Given the description of an element on the screen output the (x, y) to click on. 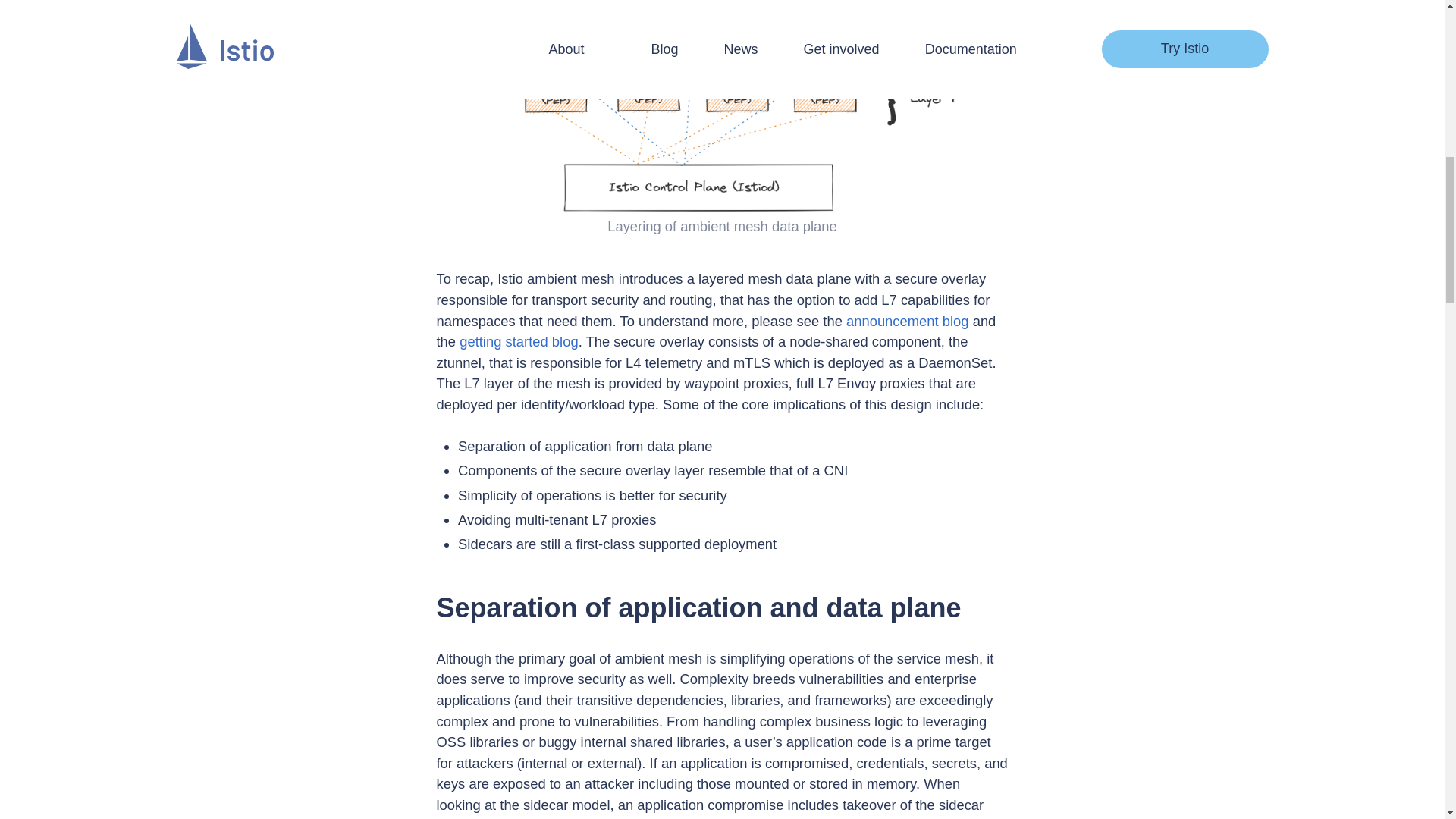
getting started blog (519, 341)
announcement blog (907, 320)
